Given the description of an element on the screen output the (x, y) to click on. 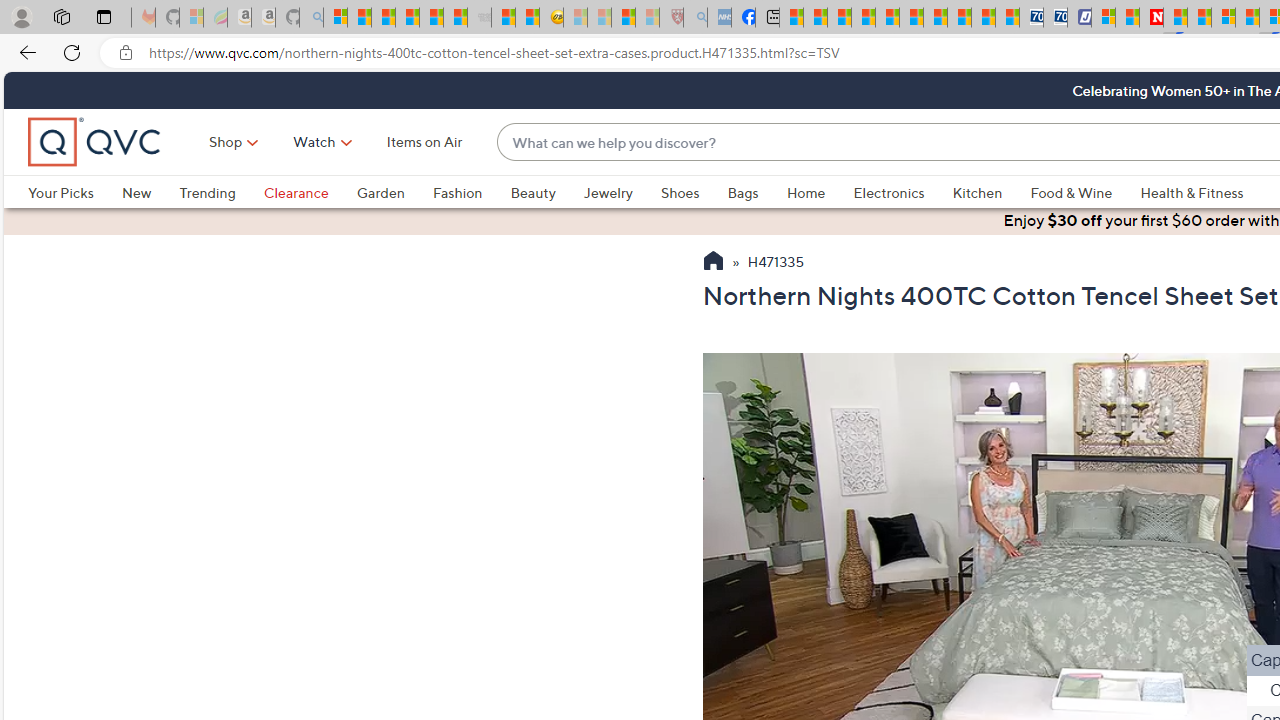
Jewelry (607, 192)
Trending (221, 192)
Beauty (546, 192)
